Given the description of an element on the screen output the (x, y) to click on. 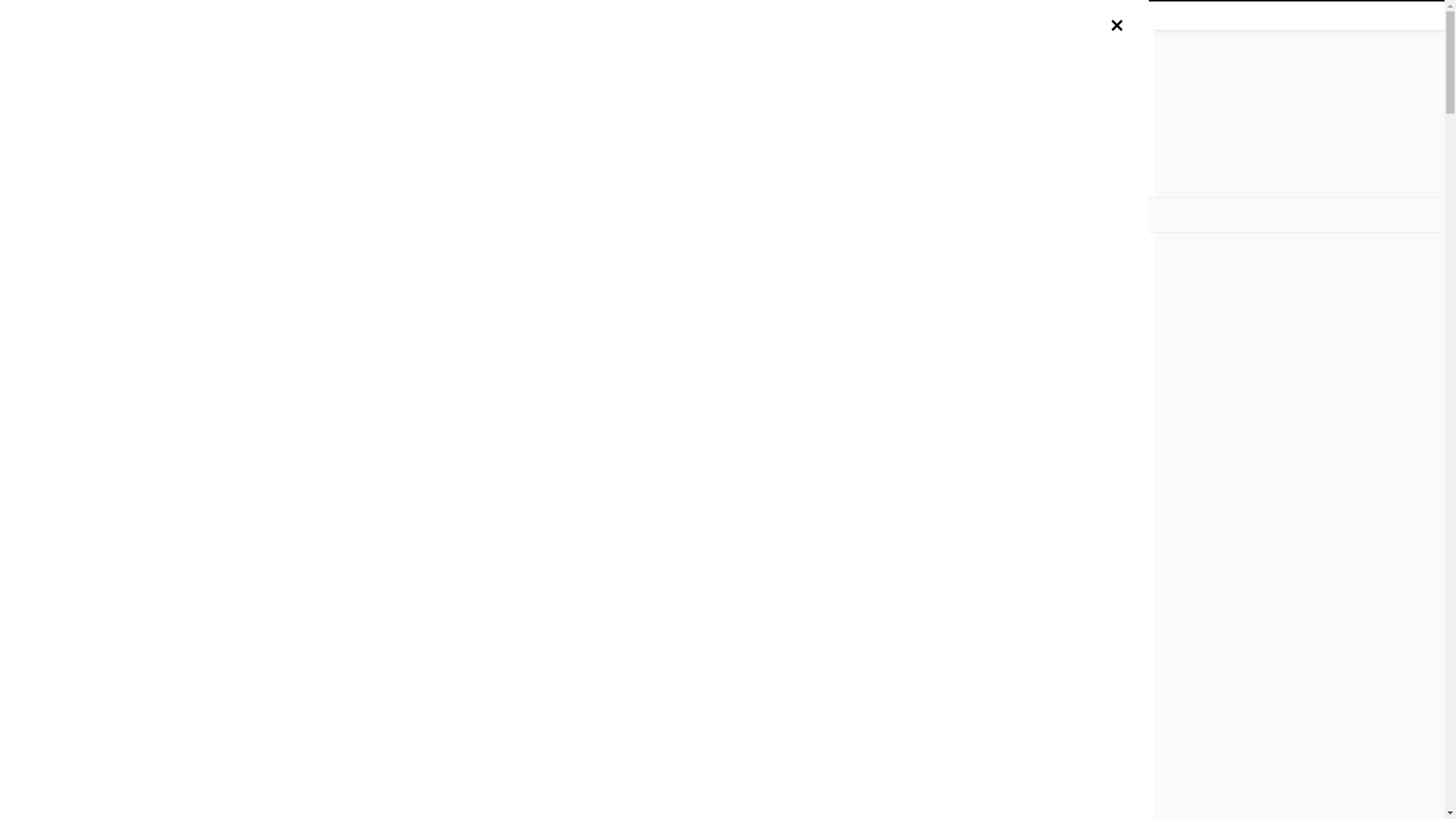
Tips (726, 215)
Privacy Policy (345, 15)
Other Names for Gluten (824, 215)
Gluten Free Recipes (542, 214)
Latest Posts (656, 215)
Home (448, 215)
Recipes from Videos (958, 215)
know gluten (722, 108)
